Given the description of an element on the screen output the (x, y) to click on. 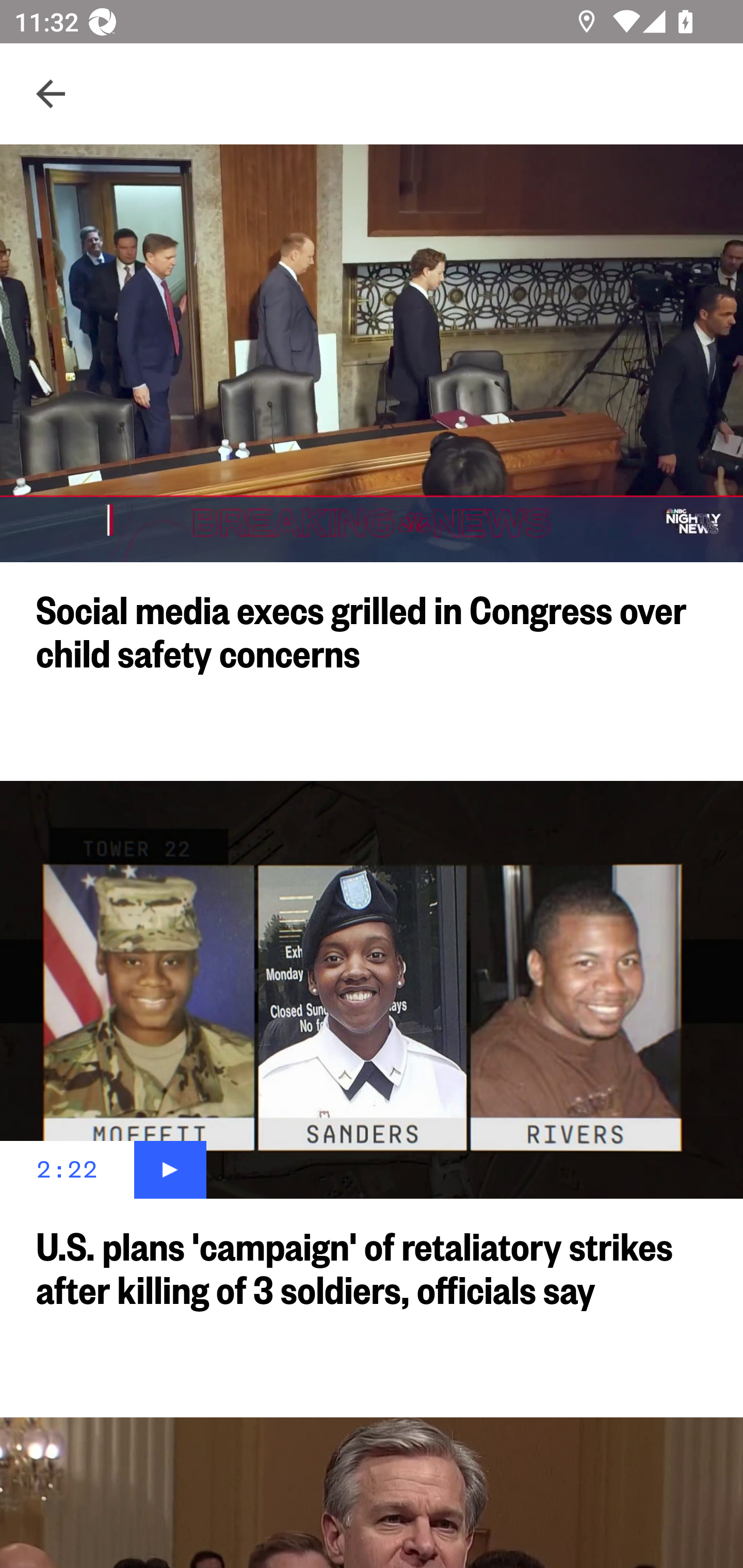
Navigate up (50, 93)
